Given the description of an element on the screen output the (x, y) to click on. 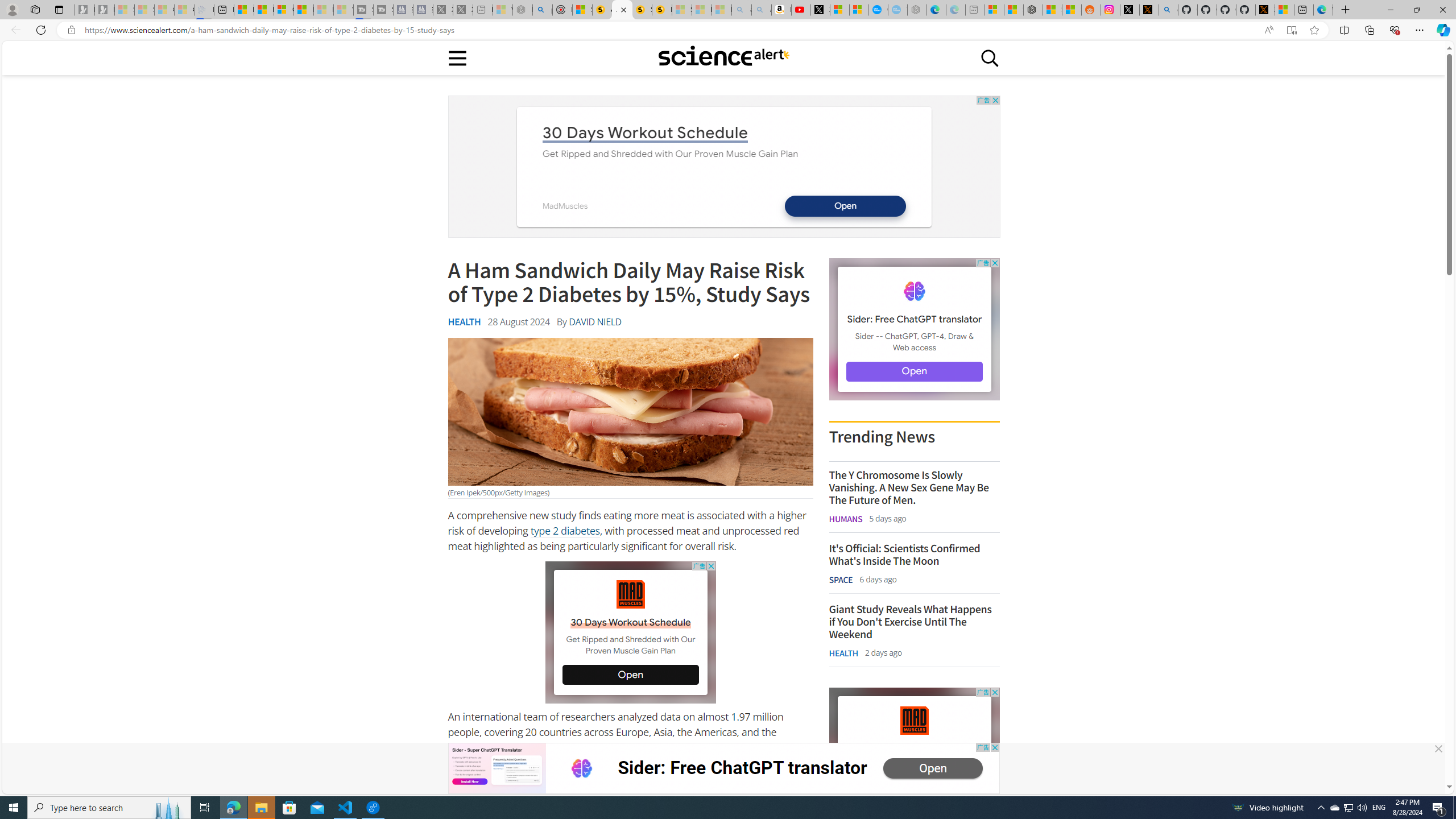
Shanghai, China Weather trends | Microsoft Weather (1071, 9)
Nordace - Nordace has arrived Hong Kong - Sleeping (916, 9)
SPACE (840, 579)
Amazon Echo Dot PNG - Search Images - Sleeping (761, 9)
Main menu (456, 57)
Log in to X / X (1129, 9)
